Given the description of an element on the screen output the (x, y) to click on. 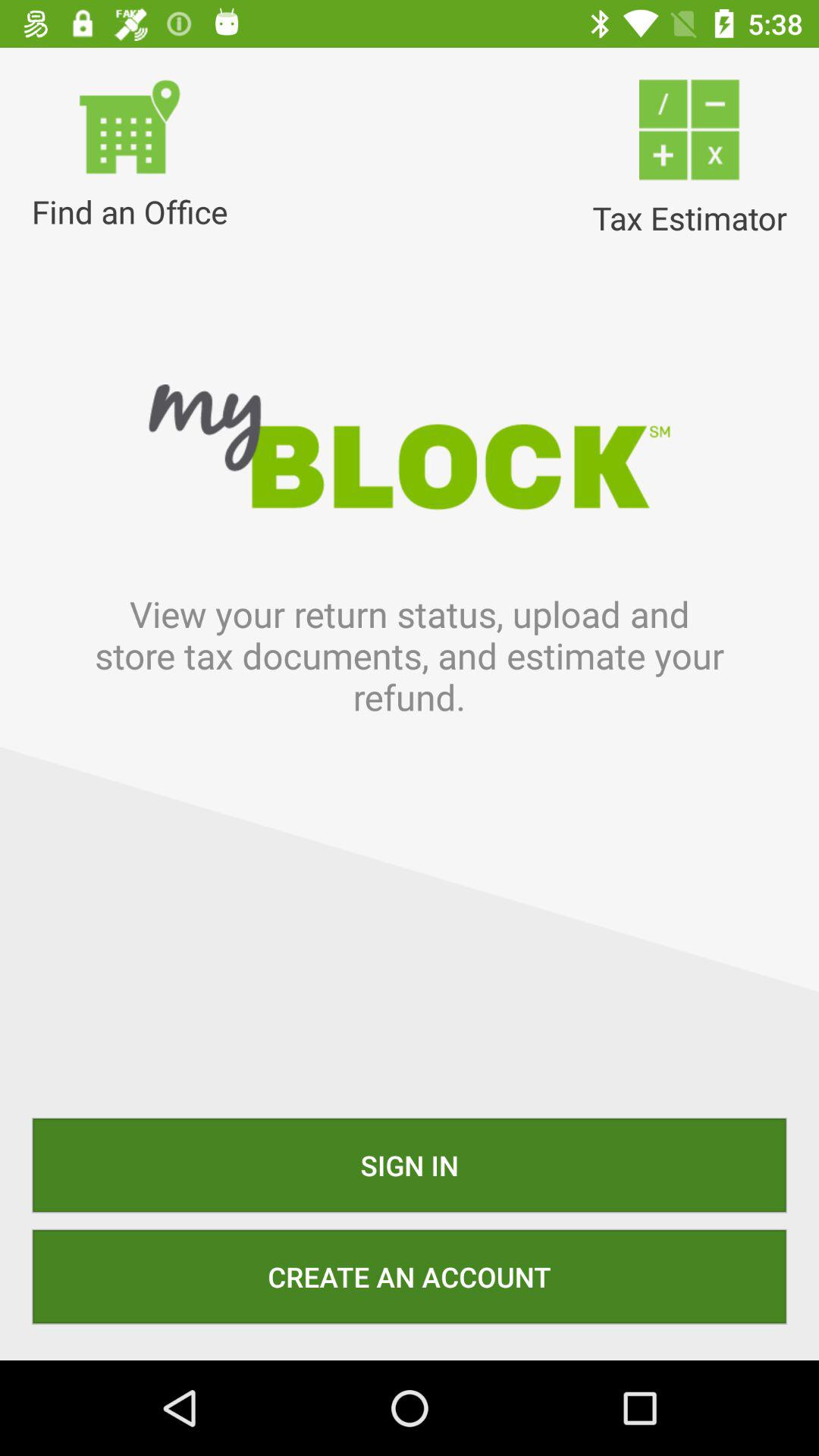
open sign in icon (409, 1165)
